Given the description of an element on the screen output the (x, y) to click on. 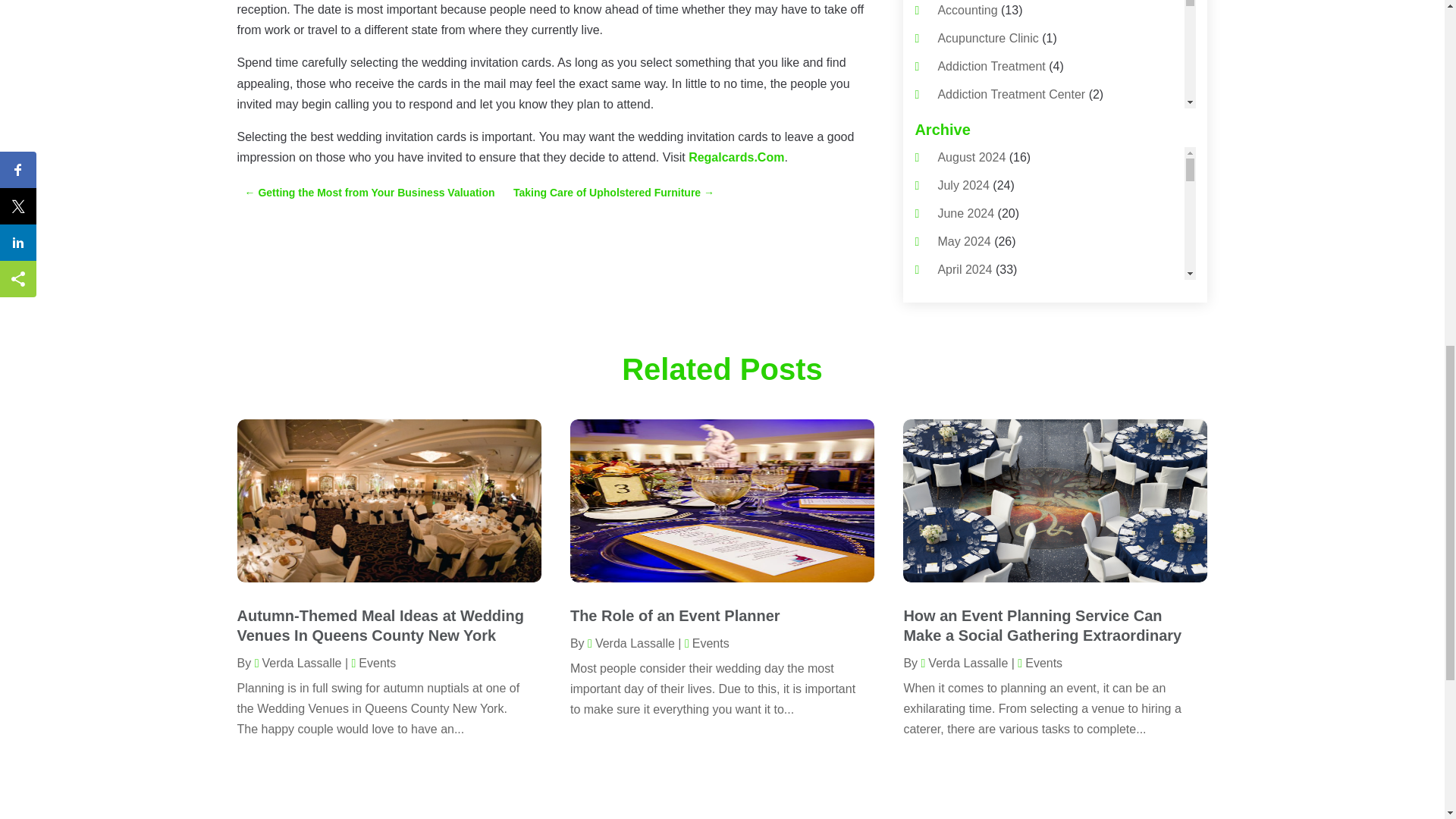
Adoption (961, 178)
Advertising Agency (989, 206)
Agricultural Service (989, 264)
Acupuncture Clinic (987, 38)
Addiction Treatment Center (1010, 93)
Posts by Verda Lassalle (298, 662)
Agricultural (967, 235)
Posts by Verda Lassalle (963, 662)
Adjustable Height Sink (998, 151)
Regalcards.Com (736, 156)
